Given the description of an element on the screen output the (x, y) to click on. 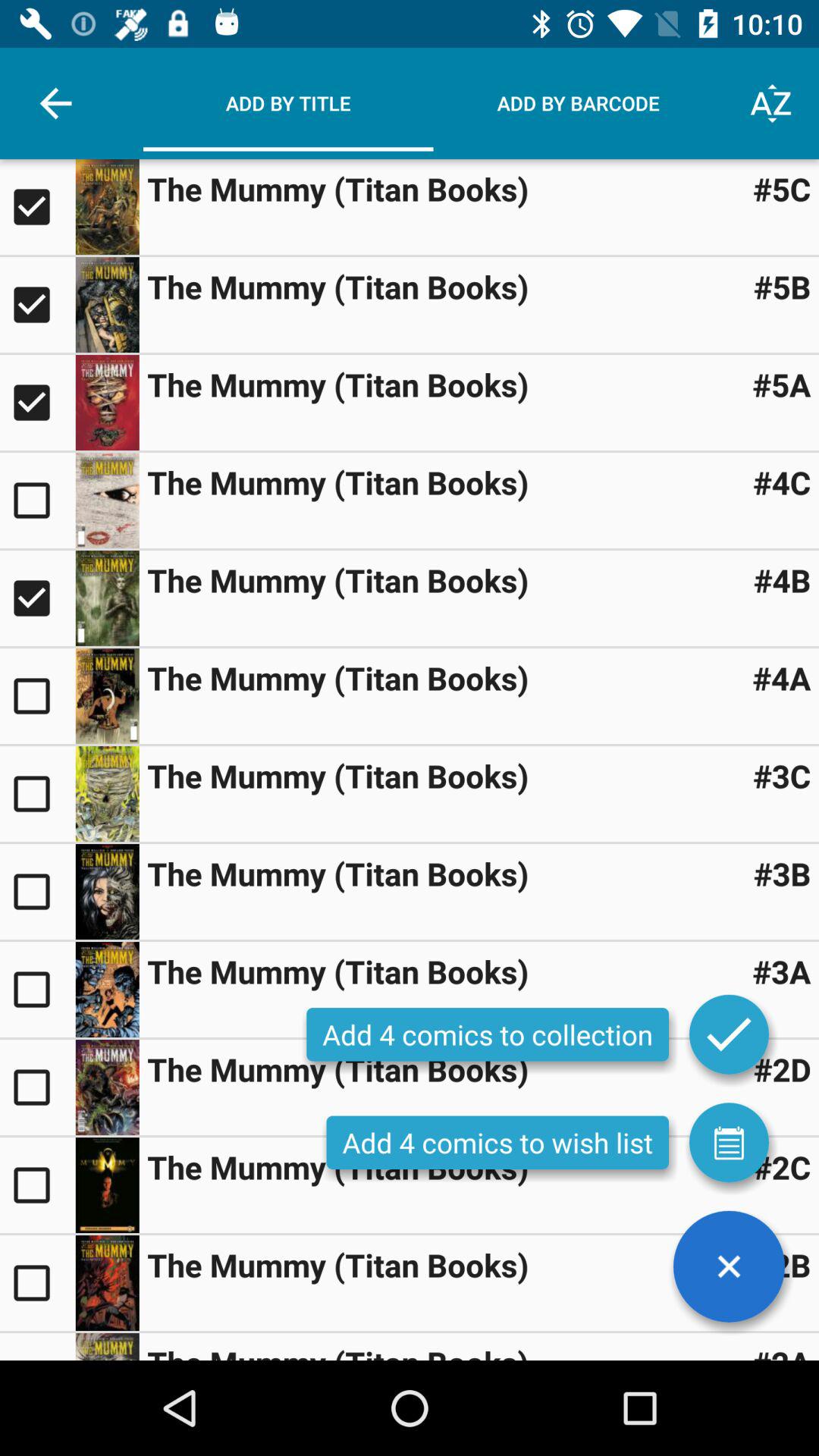
flip until #2d item (782, 1068)
